Given the description of an element on the screen output the (x, y) to click on. 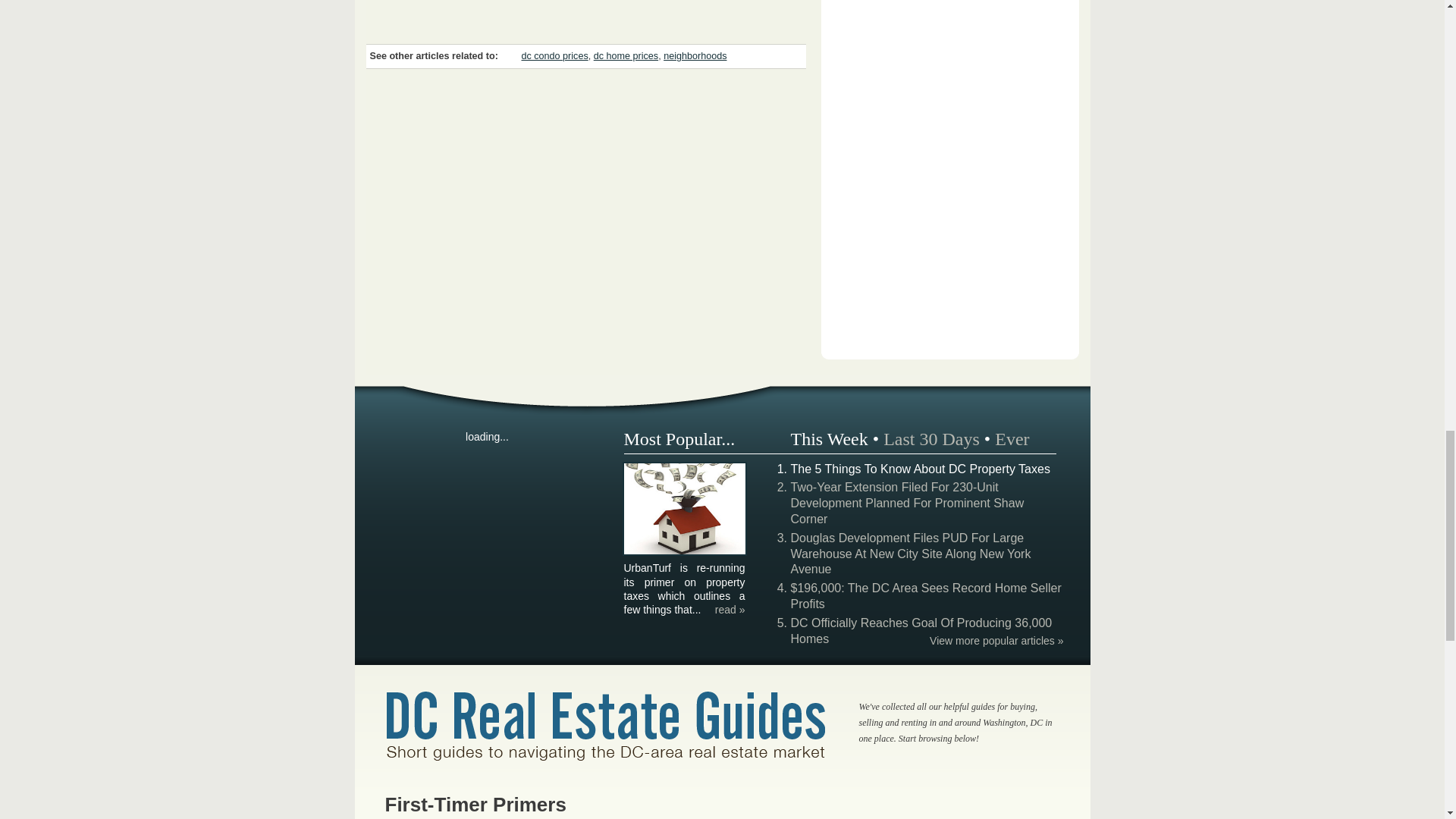
neighborhoods (694, 55)
dc home prices (626, 55)
dc condo prices (554, 55)
dc home prices (626, 55)
neighborhoods (694, 55)
dc condo prices (554, 55)
The 5 Things To Know About DC Property Taxes (684, 551)
Read the article (729, 609)
Ever (1011, 438)
This Week (828, 438)
Last 30 Days (931, 438)
